Given the description of an element on the screen output the (x, y) to click on. 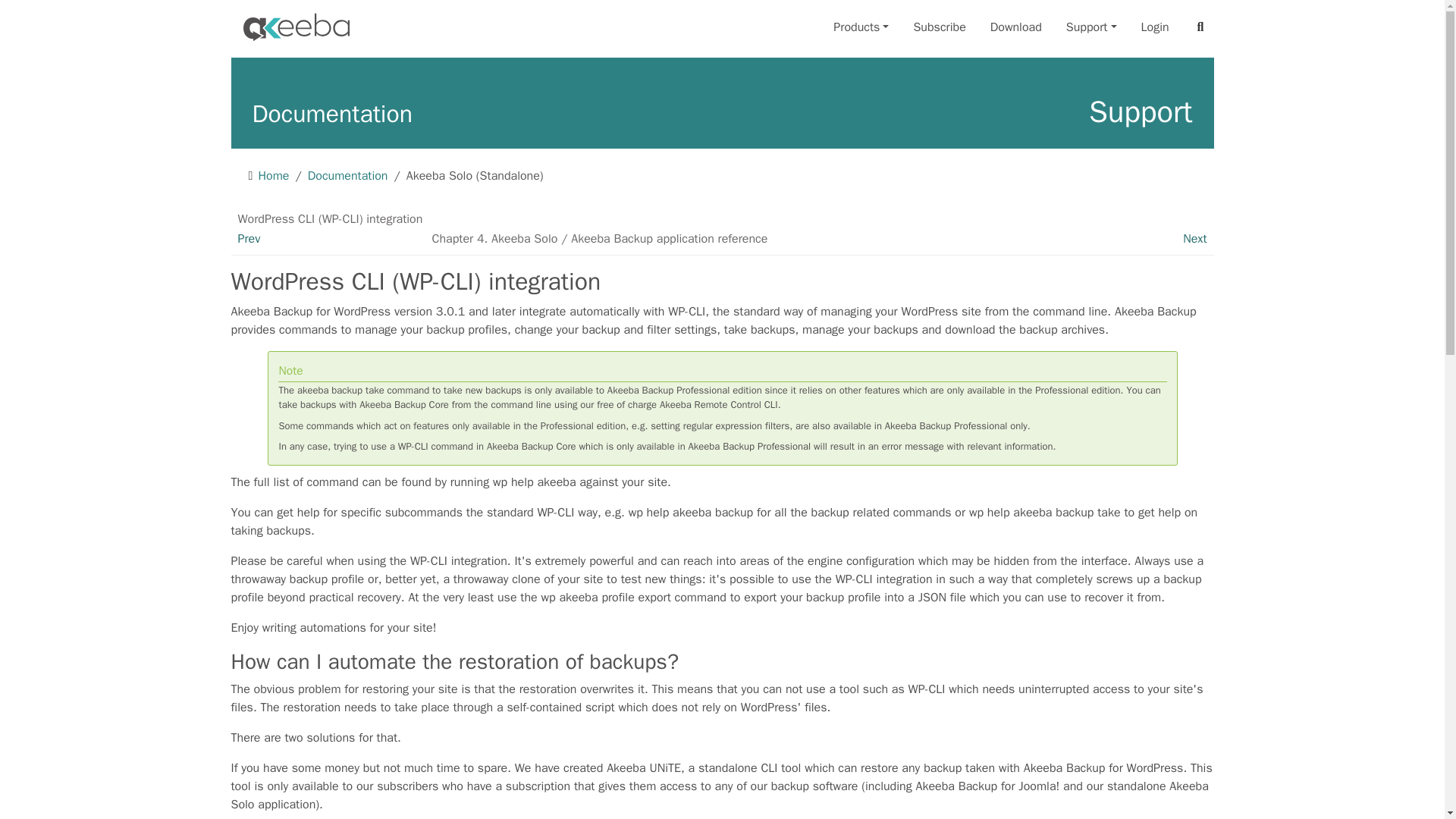
Subscribe (939, 27)
Download (1016, 27)
Login (1154, 27)
Support (1090, 27)
Products (861, 27)
Search our site (1201, 27)
